Given the description of an element on the screen output the (x, y) to click on. 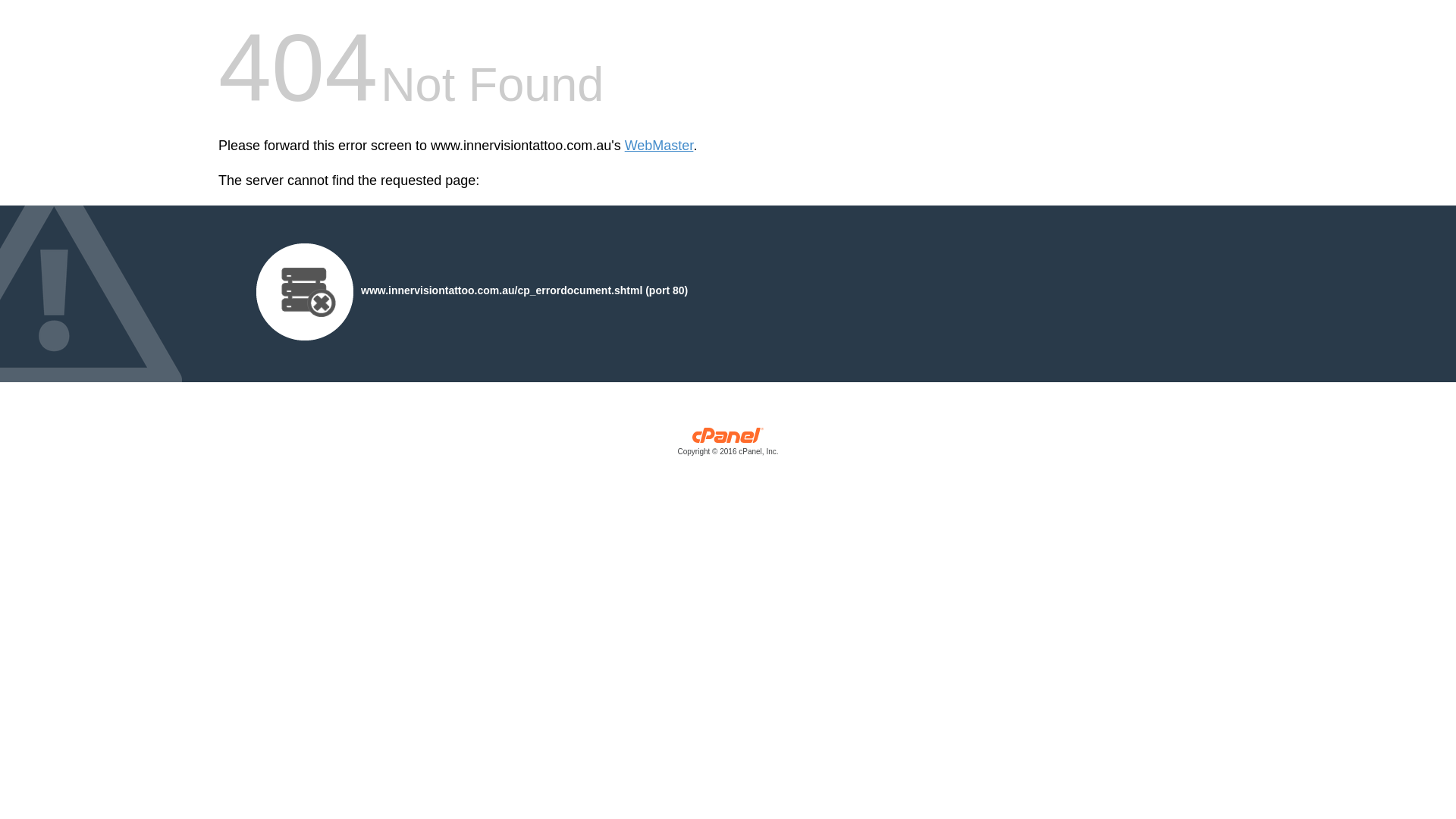
WebMaster Element type: text (658, 145)
